Given the description of an element on the screen output the (x, y) to click on. 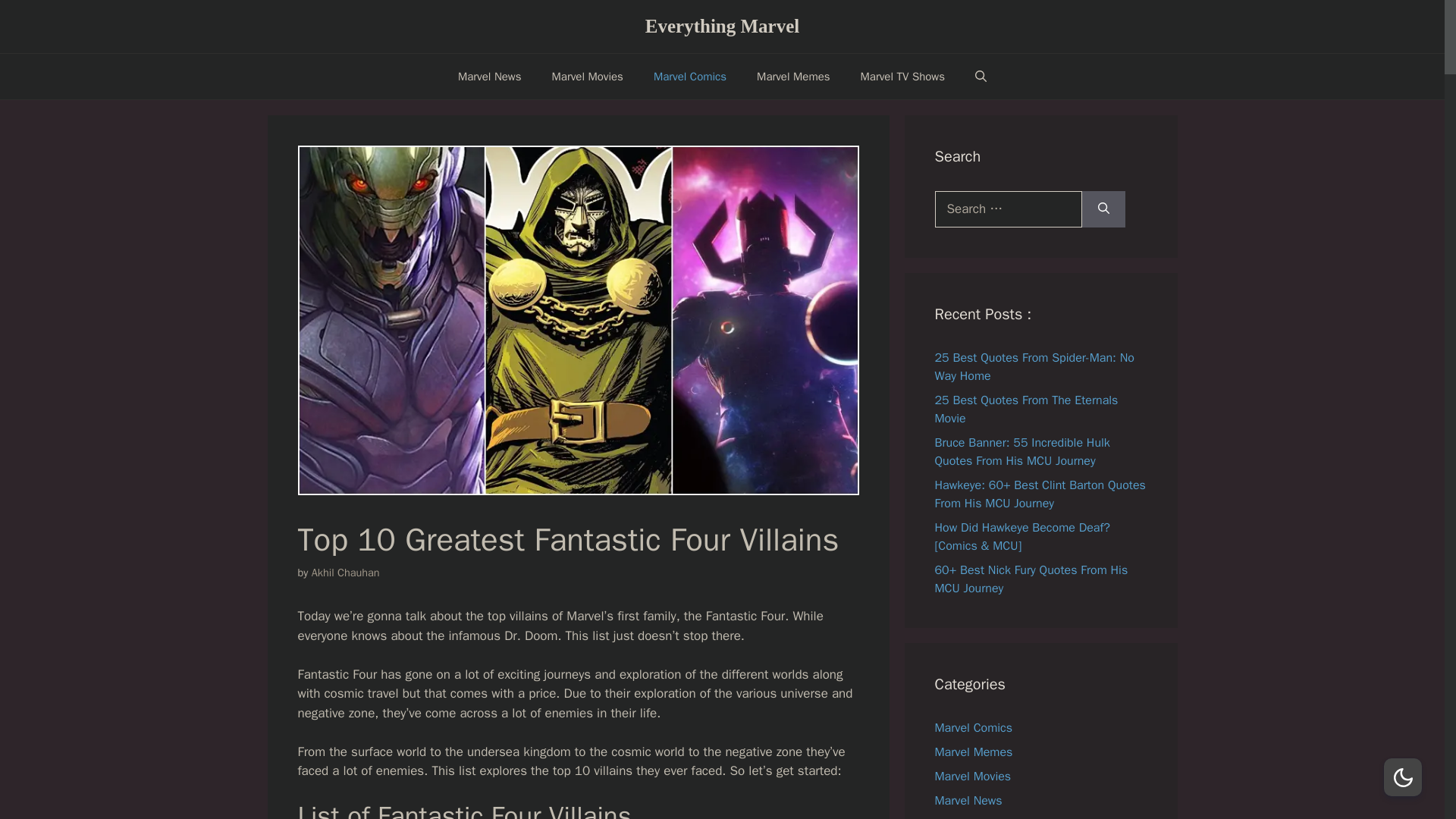
Marvel Comics (972, 727)
Marvel Movies (972, 776)
Search for: (1007, 208)
Bruce Banner: 55 Incredible Hulk Quotes From His MCU Journey (1021, 451)
Marvel TV Shows (902, 76)
Marvel Movies (588, 76)
25 Best Quotes From The Eternals Movie (1026, 409)
Marvel News (967, 800)
25 Best Quotes From Spider-Man: No Way Home (1034, 367)
Marvel TV Shows (979, 818)
Marvel News (489, 76)
Marvel Comics (690, 76)
Akhil Chauhan (345, 572)
Marvel Memes (972, 752)
Marvel Memes (792, 76)
